Given the description of an element on the screen output the (x, y) to click on. 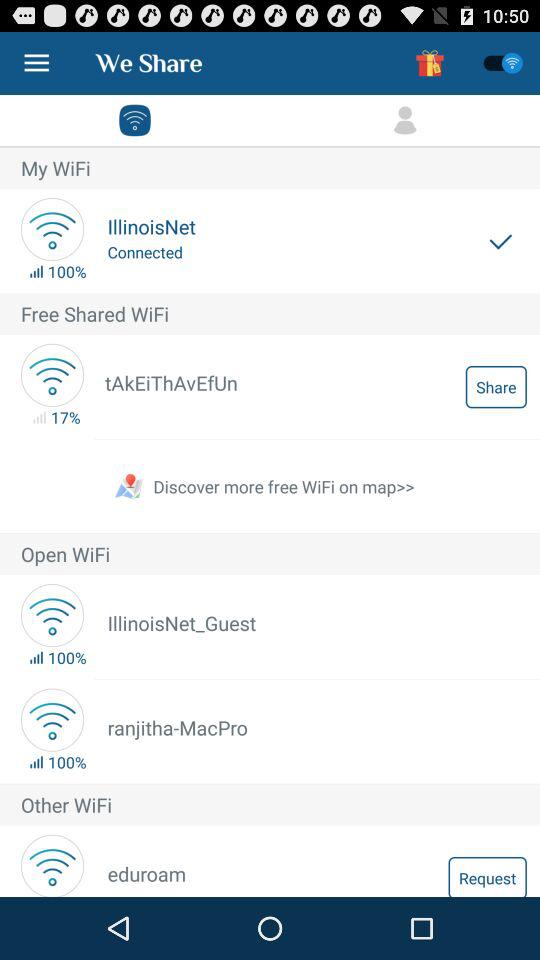
tap item on the right (495, 386)
